Given the description of an element on the screen output the (x, y) to click on. 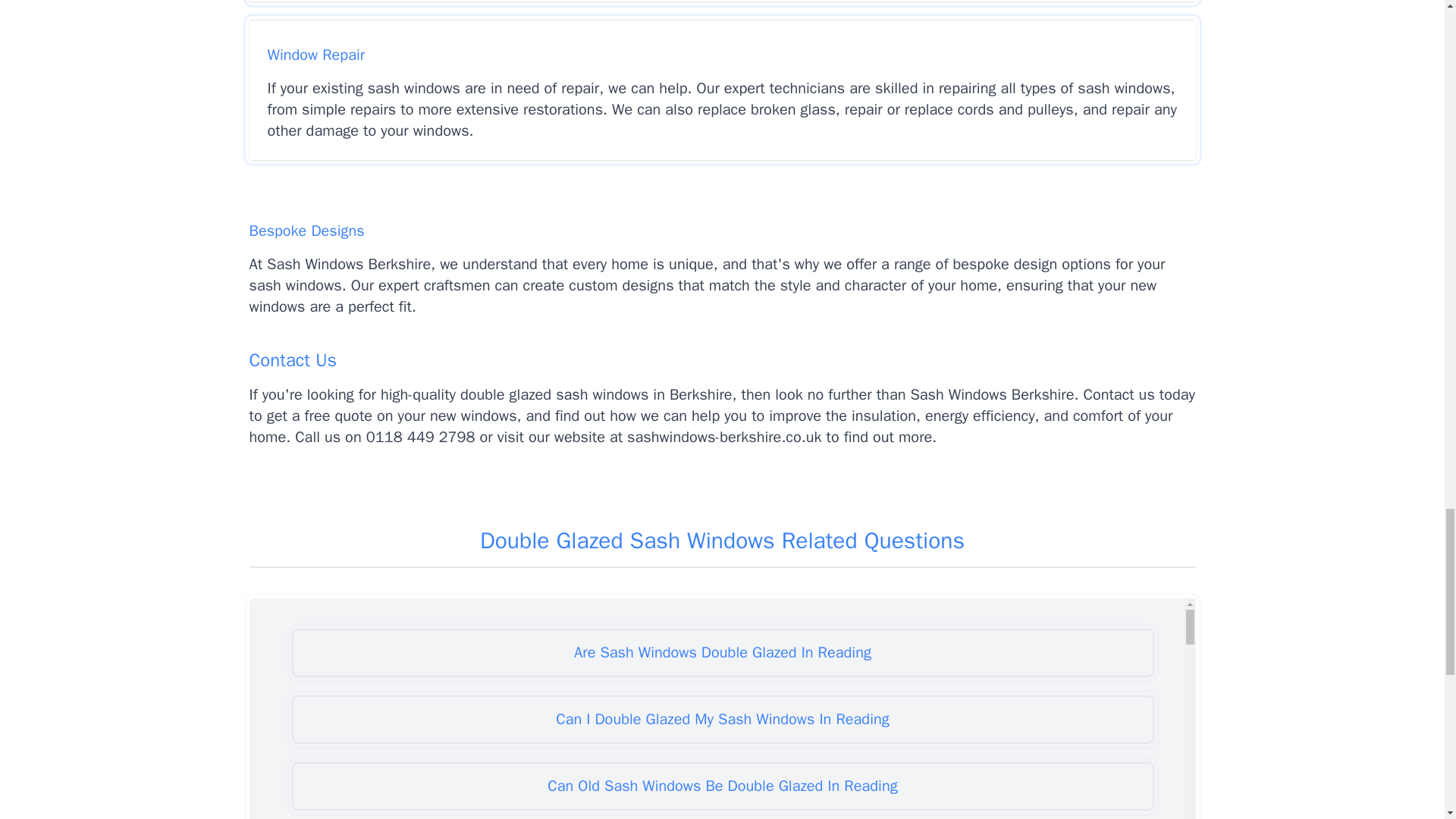
Are Sash Windows Double Glazed In Reading (722, 652)
Can I Double Glazed My Sash Windows In Reading (722, 719)
Can Old Sash Windows Be Double Glazed In Reading (722, 786)
